Given the description of an element on the screen output the (x, y) to click on. 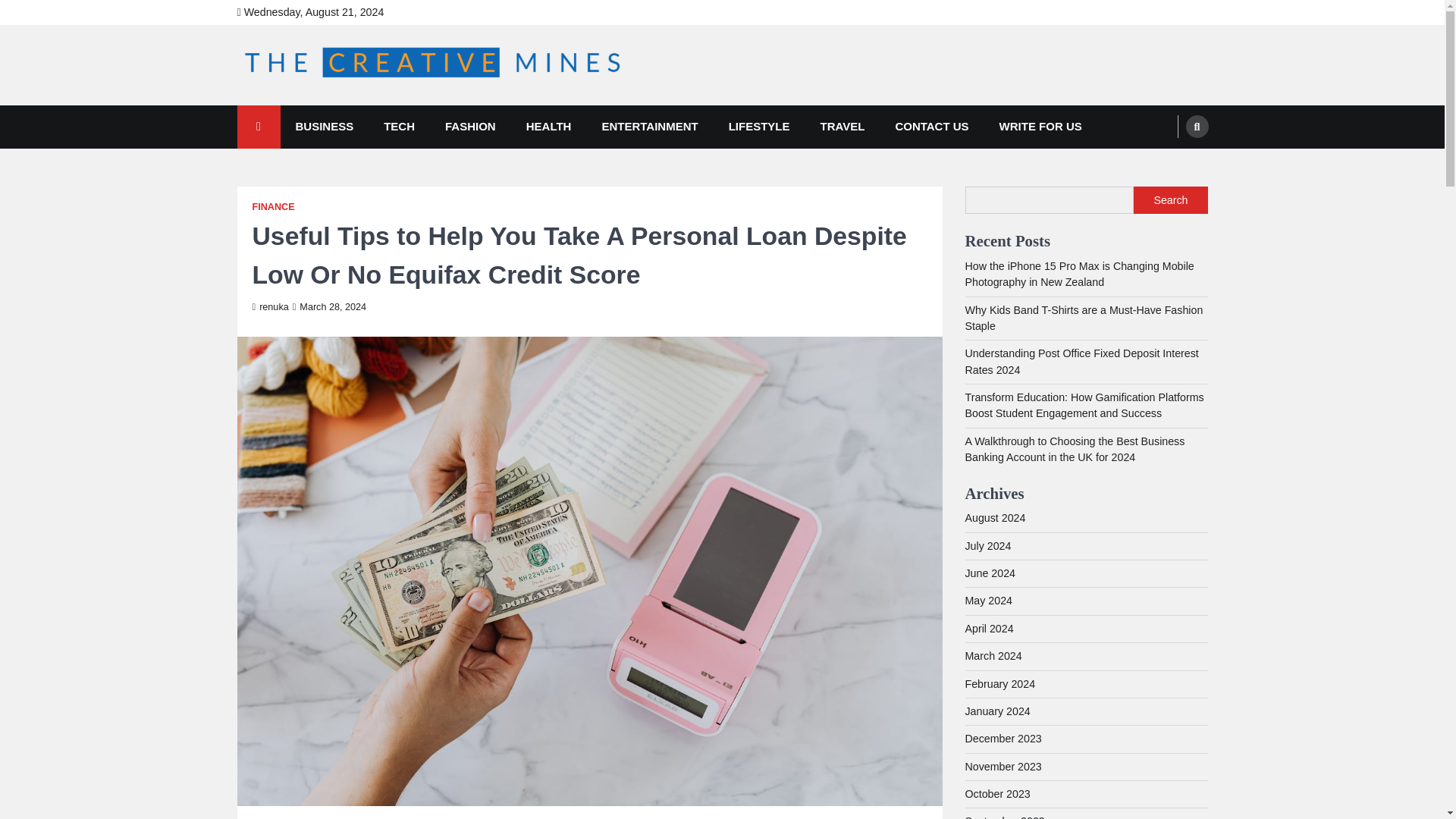
Search (1170, 199)
FASHION (470, 126)
Why Kids Band T-Shirts are a Must-Have Fashion Staple (1082, 317)
BUSINESS (325, 126)
WRITE FOR US (1040, 126)
Understanding Post Office Fixed Deposit Interest Rates 2024 (1080, 361)
TECH (398, 126)
Search (1168, 162)
